Given the description of an element on the screen output the (x, y) to click on. 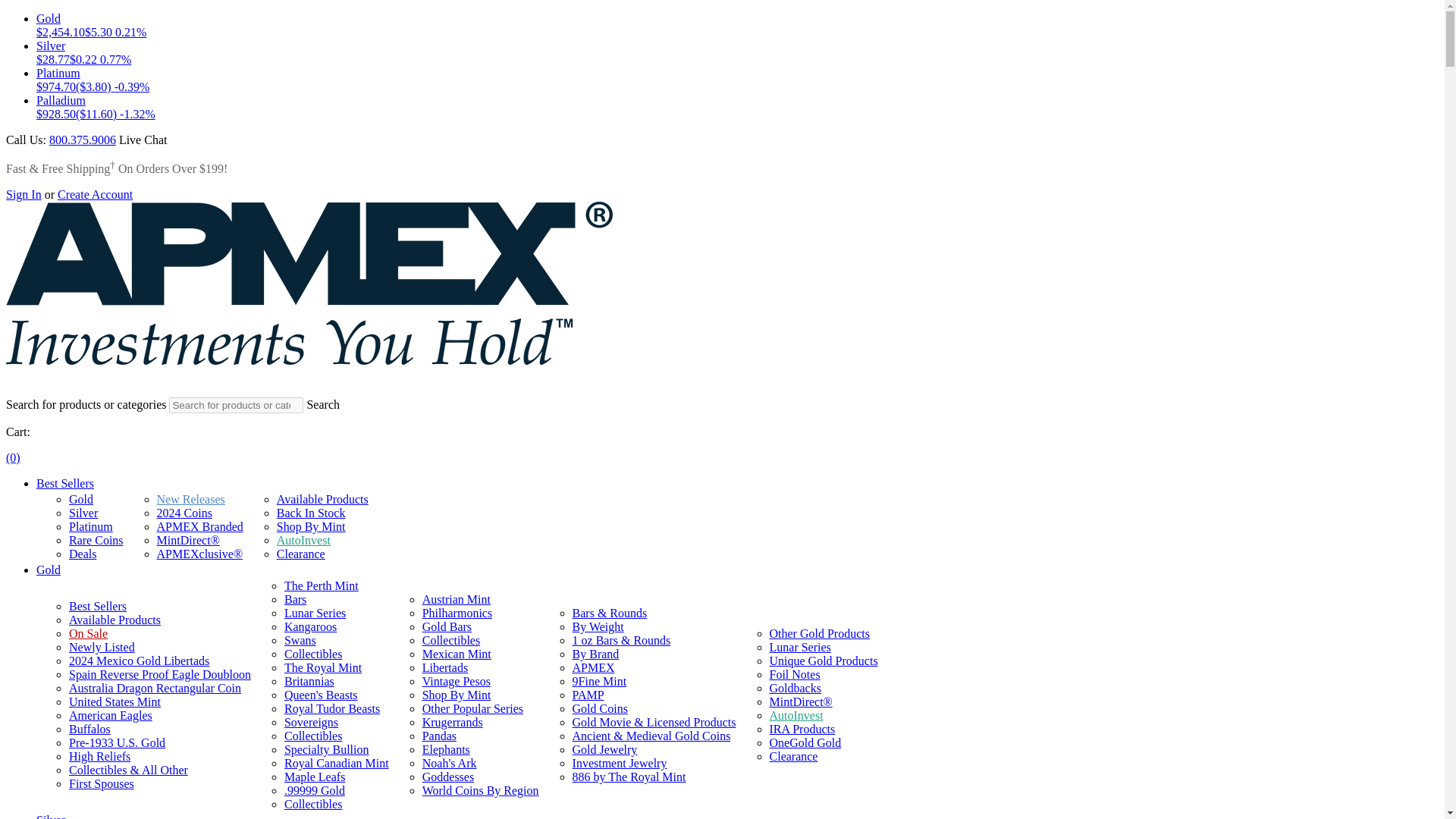
800.375.9006 (82, 139)
AutoInvest (303, 540)
American Eagles (110, 715)
Available Products (322, 499)
United States Mint (114, 701)
APMEX Branded (200, 526)
Pre-1933 U.S. Gold (116, 742)
Create Account (95, 194)
Rare Coins (95, 540)
